Given the description of an element on the screen output the (x, y) to click on. 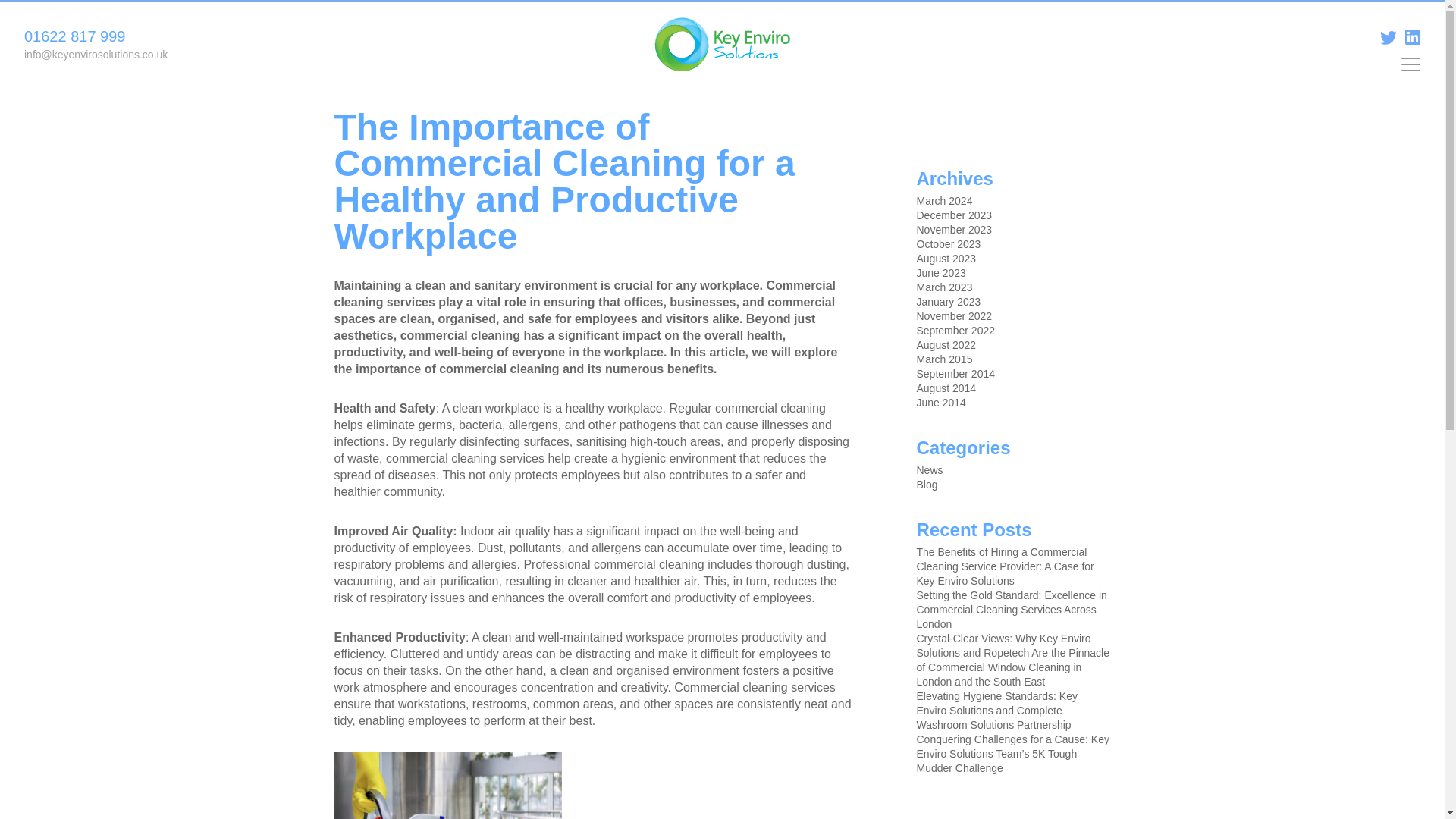
December 2023 (953, 215)
June 2023 (940, 272)
March 2023 (943, 287)
October 2023 (947, 244)
November 2022 (953, 316)
Back to the Key Enviro Solutions Homepage (721, 44)
September 2022 (954, 330)
August 2023 (945, 258)
March 2024 (943, 200)
January 2023 (947, 301)
November 2023 (953, 229)
August 2022 (945, 345)
